Given the description of an element on the screen output the (x, y) to click on. 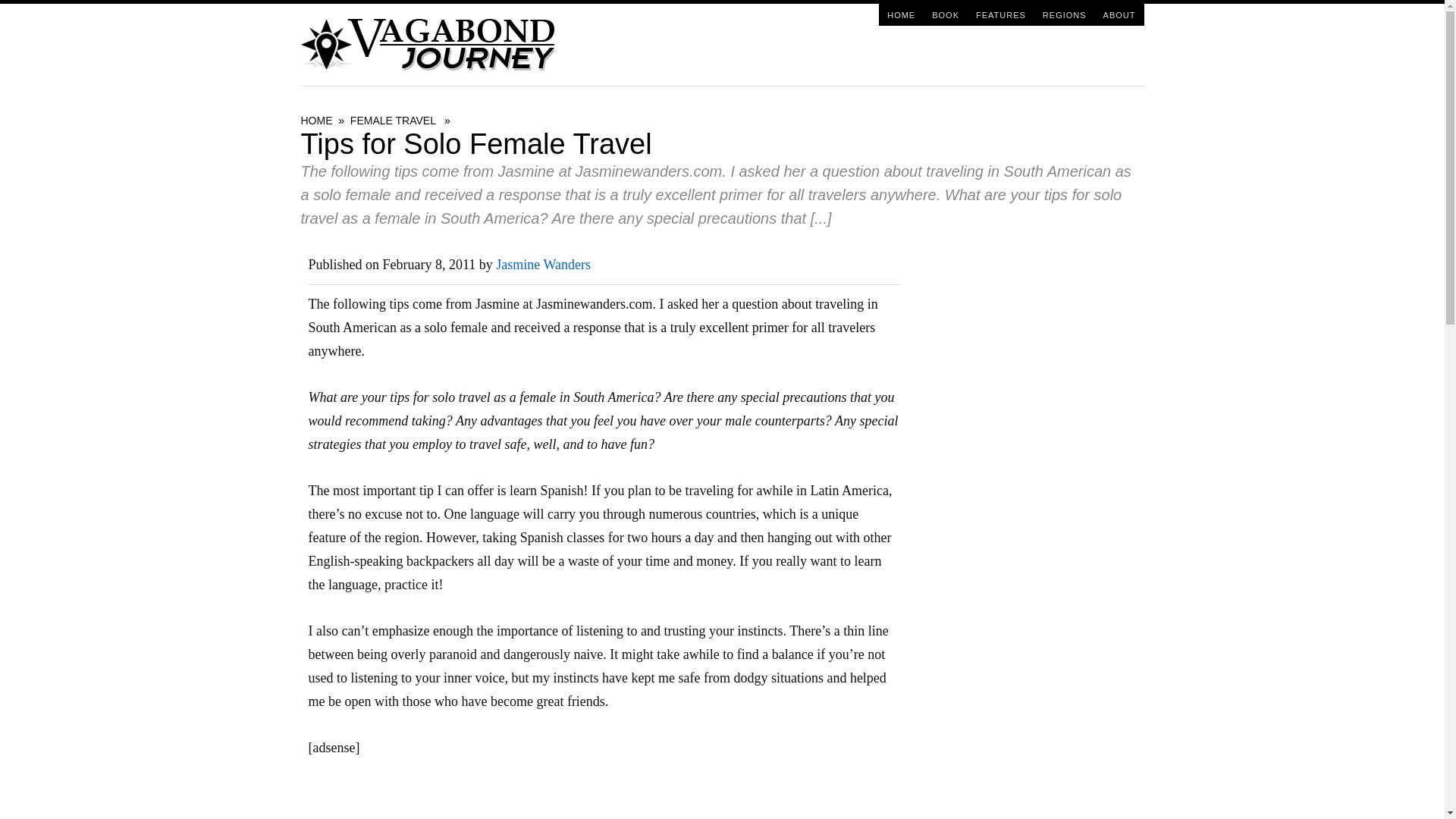
REGIONS (1063, 14)
HOME (901, 14)
Home (901, 14)
BOOK (945, 14)
HOME (315, 120)
FEATURES (1000, 14)
FEMALE TRAVEL (392, 120)
Jasmine Wanders (543, 264)
2011-02-08 (429, 264)
ABOUT (1119, 14)
